Given the description of an element on the screen output the (x, y) to click on. 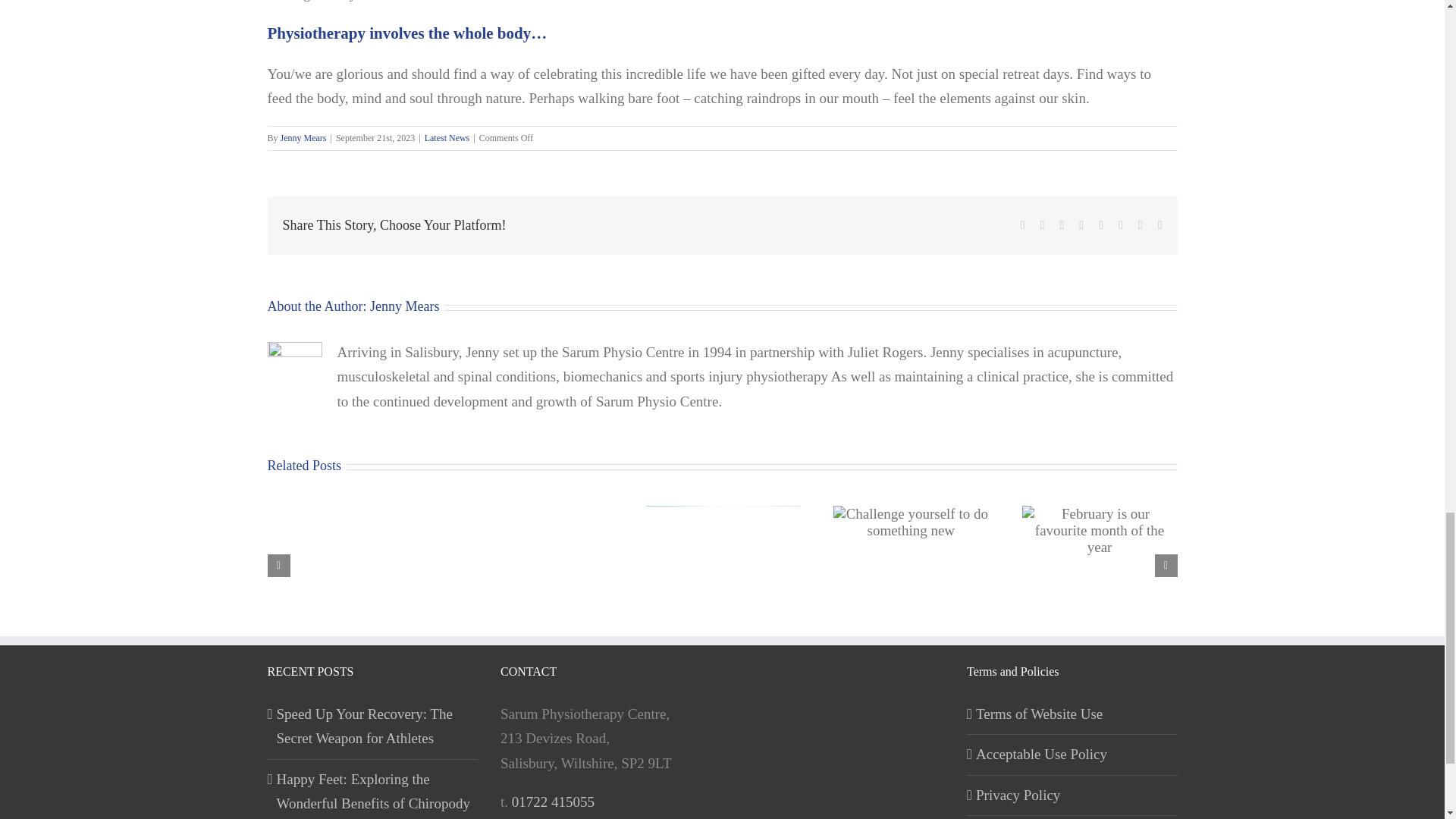
Posts by Jenny Mears (303, 137)
LinkedIn (1080, 224)
Posts by Jenny Mears (404, 305)
Vk (1140, 224)
Reddit (1061, 224)
Jenny Mears (303, 137)
Latest News (447, 137)
Vk (1140, 224)
Tumblr (1101, 224)
Facebook (1022, 224)
Facebook (1022, 224)
X (1043, 224)
Tumblr (1101, 224)
Pinterest (1120, 224)
Pinterest (1120, 224)
